Given the description of an element on the screen output the (x, y) to click on. 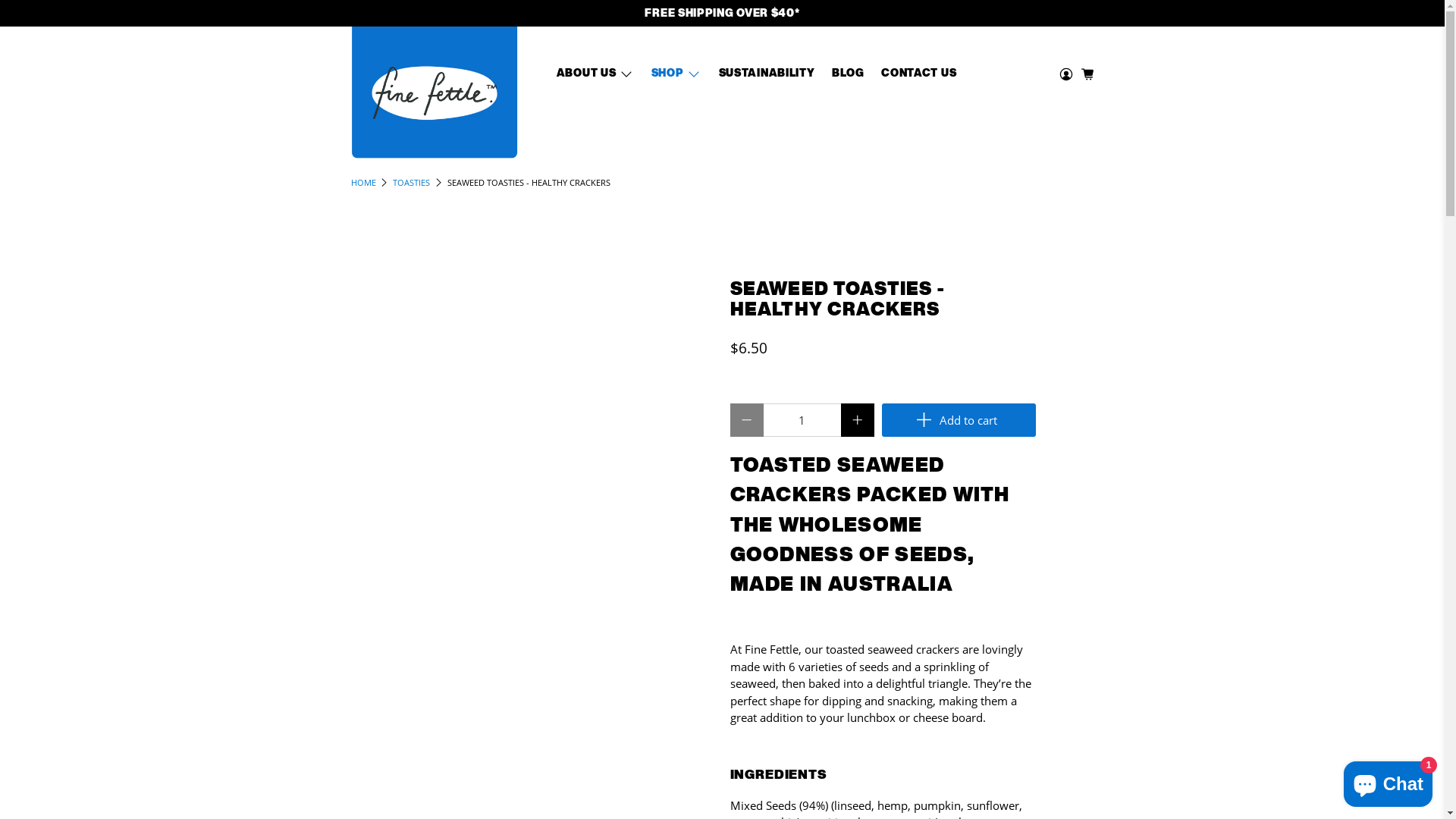
CONTACT US Element type: text (918, 73)
SUSTAINABILITY Element type: text (765, 73)
HOME Element type: text (362, 182)
TOASTIES Element type: text (410, 182)
Add to cart Element type: text (958, 419)
ABOUT US Element type: text (594, 73)
Fine Fettle Element type: hover (433, 92)
Shopify online store chat Element type: hover (1388, 780)
BLOG Element type: text (847, 73)
SHOP Element type: text (675, 73)
